Given the description of an element on the screen output the (x, y) to click on. 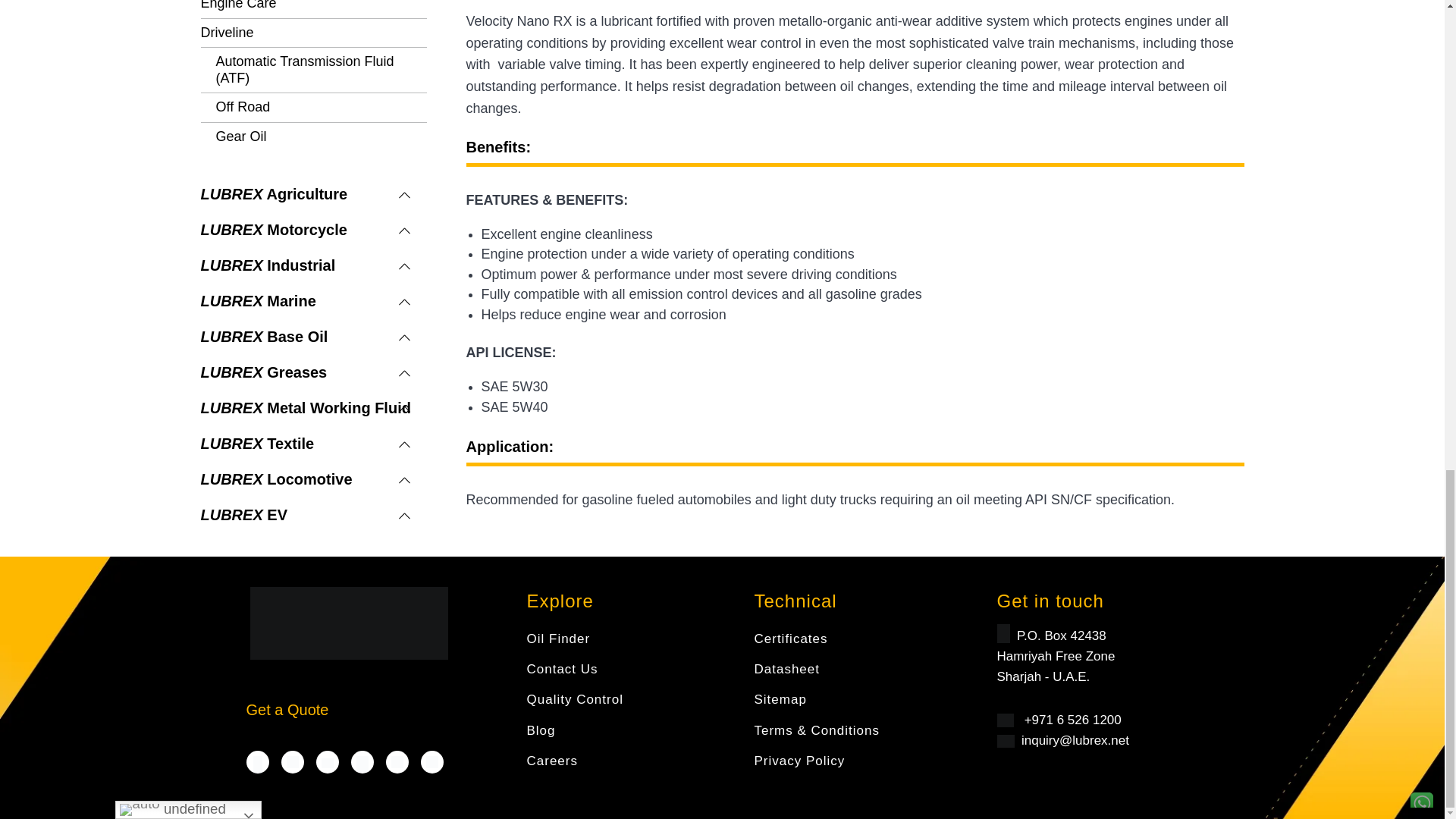
Lubrex FZC (349, 623)
tel (1004, 720)
social-icon (397, 761)
social-icon (327, 763)
social-icon (432, 761)
email (1004, 740)
social-icon (292, 761)
